Given the description of an element on the screen output the (x, y) to click on. 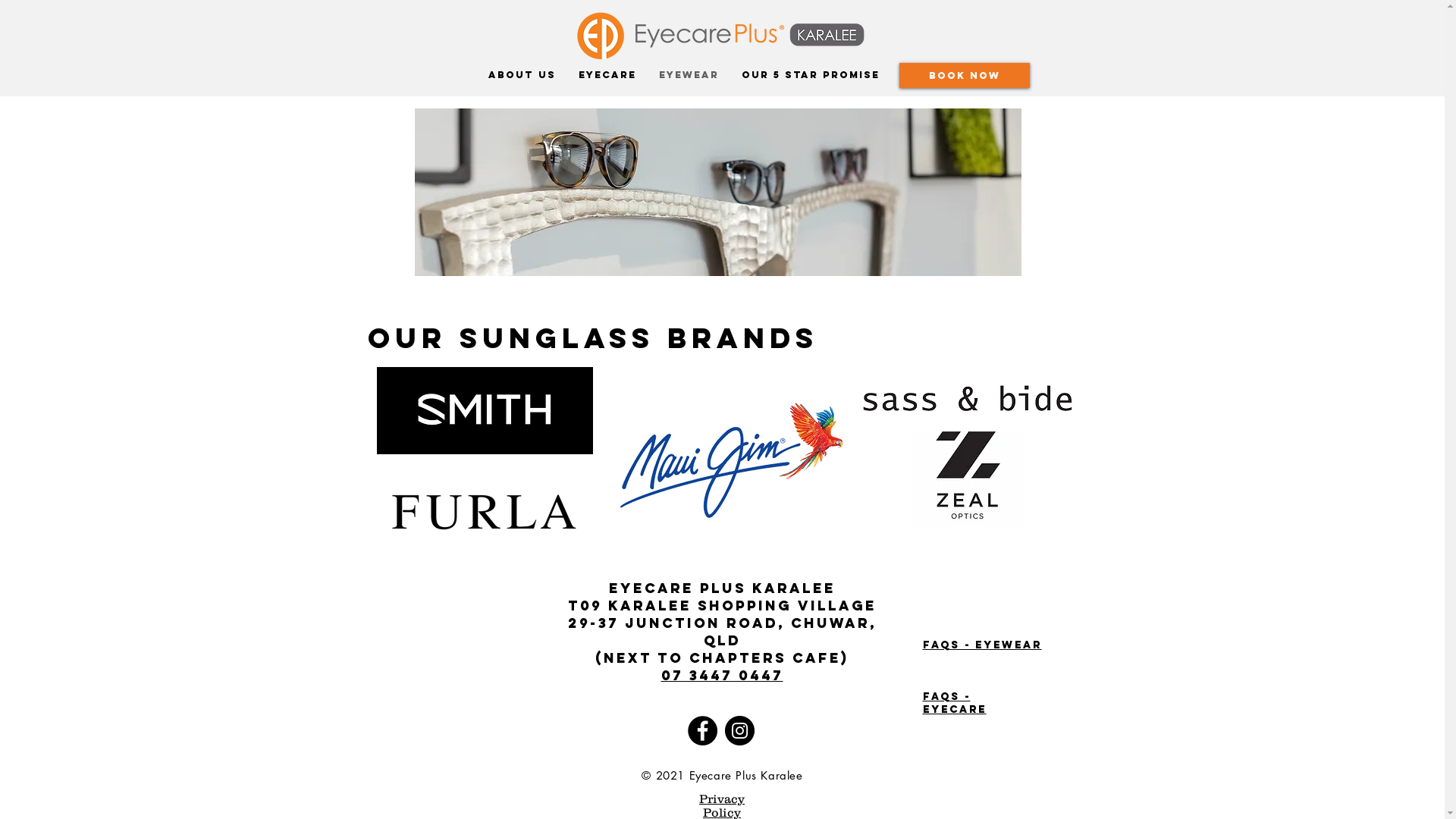
Our 5 star promise Element type: text (809, 74)
07 3447 0447 Element type: text (722, 675)
FAQs - Eyecare Element type: text (953, 702)
About us Element type: text (521, 74)
Eyecare Element type: text (607, 74)
Eyewear Element type: text (688, 74)
FAQs - Eyewear Element type: text (981, 644)
Book now Element type: text (964, 74)
